Given the description of an element on the screen output the (x, y) to click on. 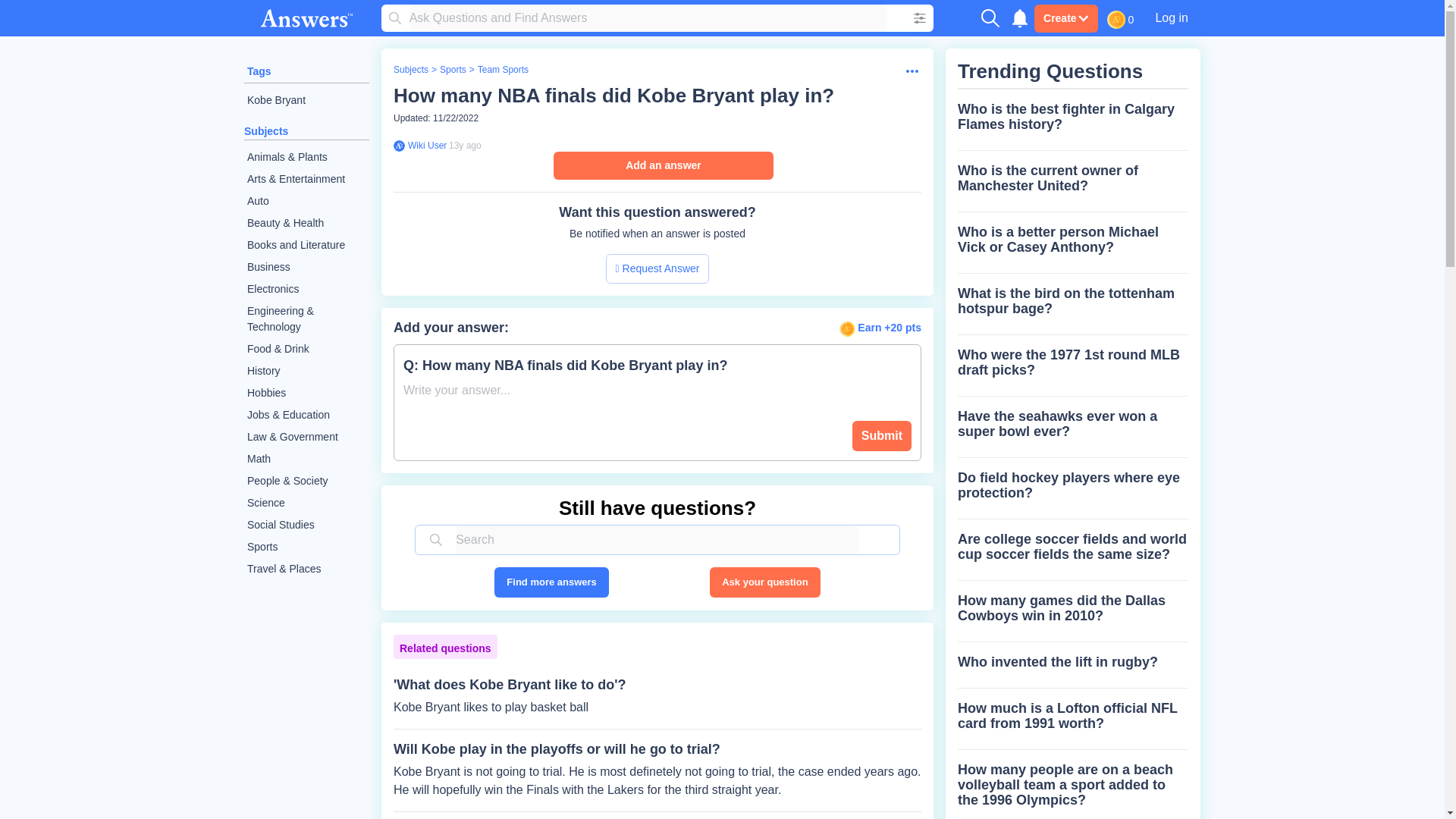
Create (1065, 18)
Social Studies (306, 525)
Auto (306, 201)
Math (306, 458)
Subjects (266, 131)
History (306, 371)
Books and Literature (306, 245)
Electronics (306, 289)
Kobe Bryant (306, 100)
How many NBA finals did Kobe Bryant play in? (613, 95)
Sports (306, 546)
Log in (1170, 17)
Business (306, 267)
Team Sports (502, 69)
